Given the description of an element on the screen output the (x, y) to click on. 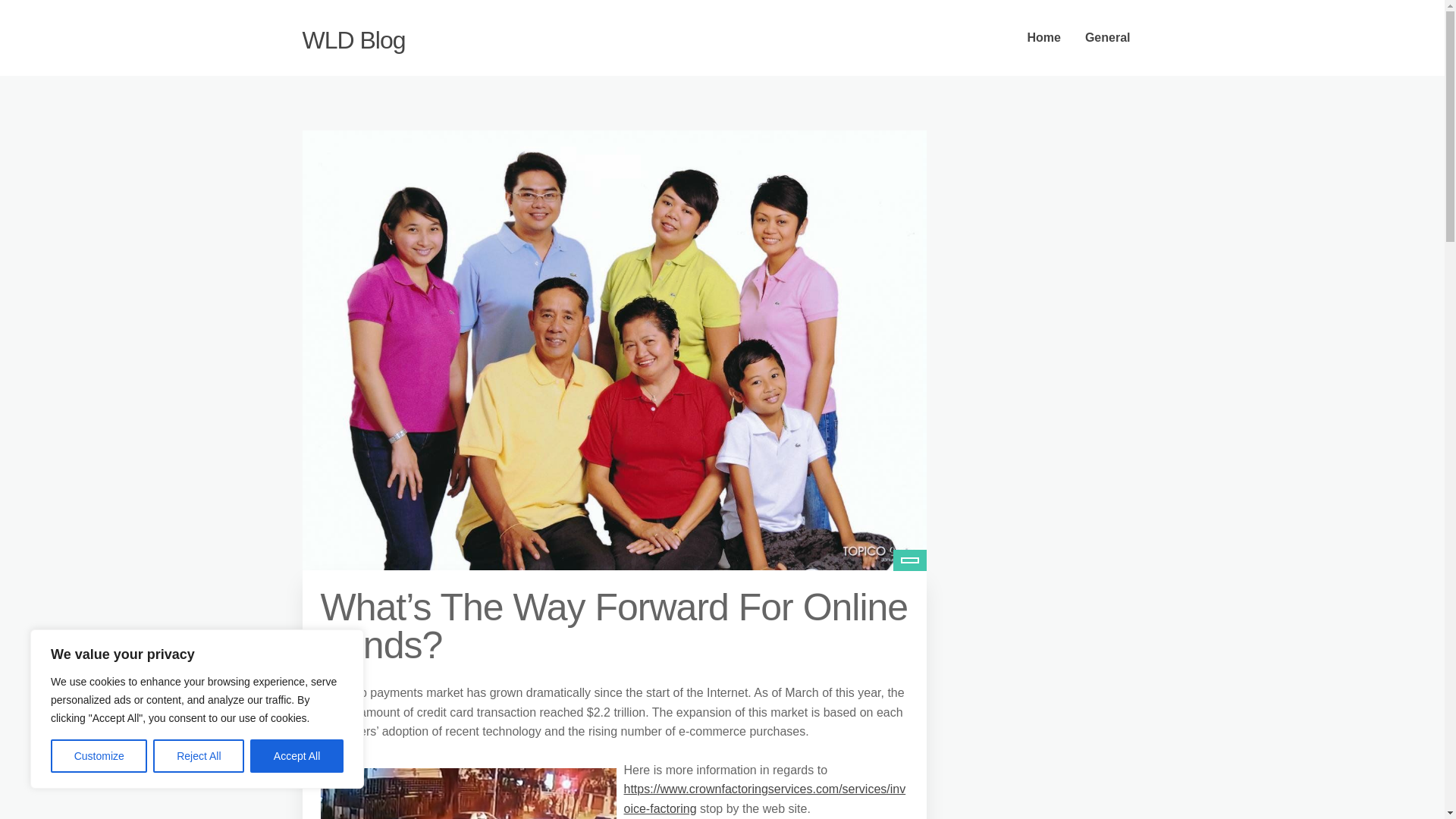
Reject All (198, 756)
General (1107, 37)
Customize (98, 756)
WLD Blog (352, 39)
Home (1042, 37)
Accept All (296, 756)
